Given the description of an element on the screen output the (x, y) to click on. 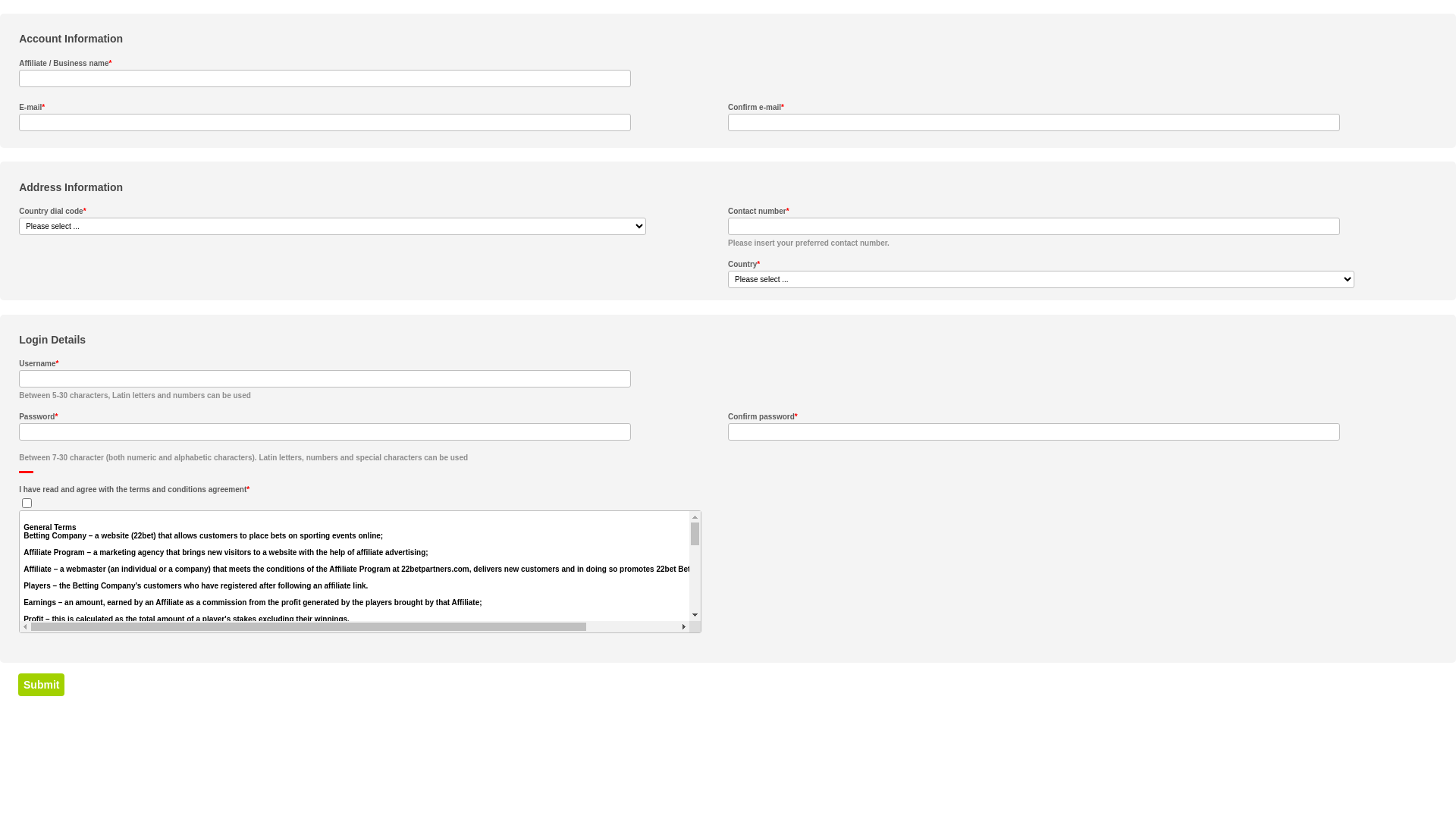
Submit Element type: text (41, 684)
